Given the description of an element on the screen output the (x, y) to click on. 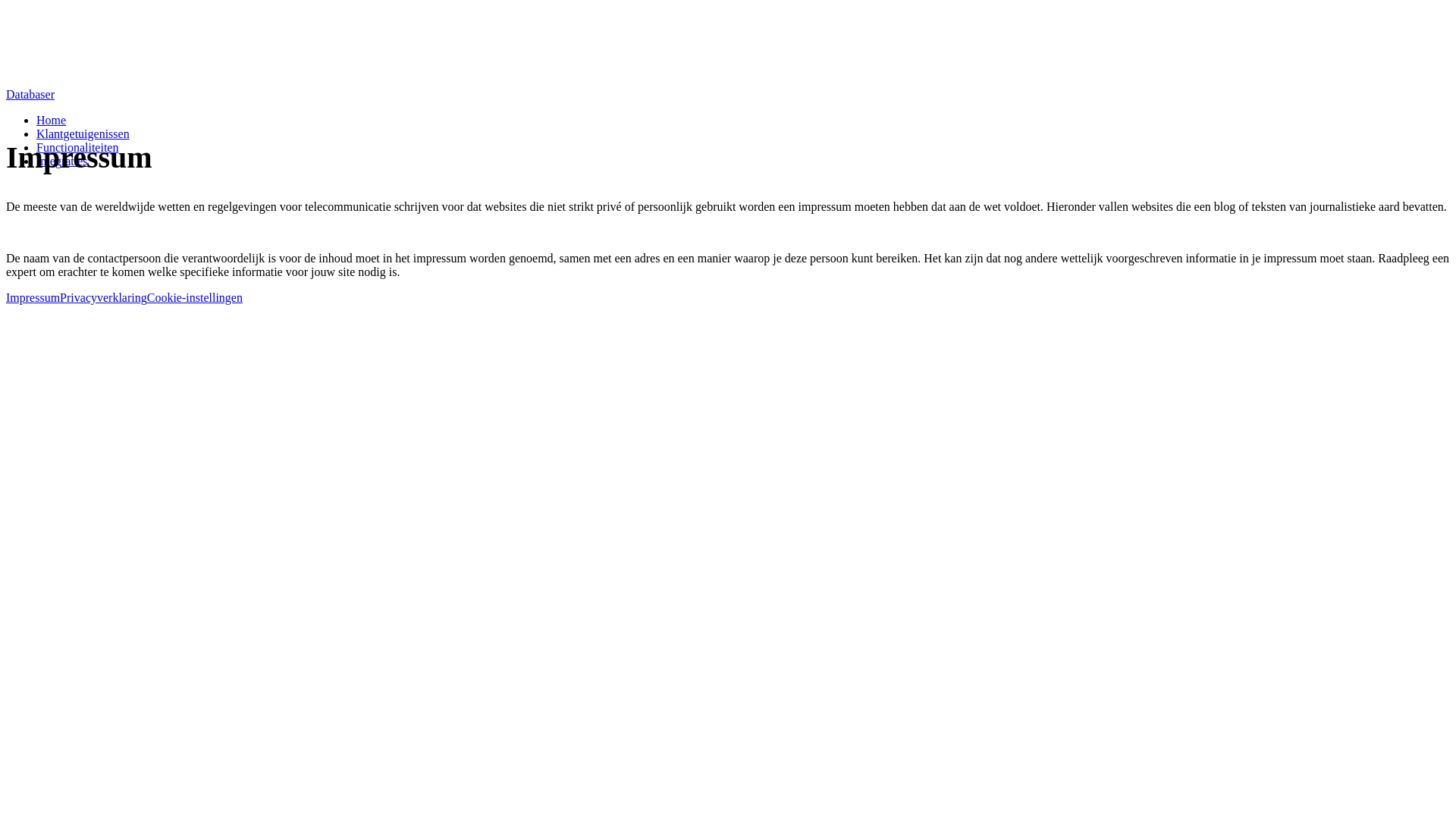
Databaser Element type: text (727, 94)
Cookie-instellingen Element type: text (194, 297)
Impressum Element type: text (32, 297)
Integraties Element type: text (61, 160)
Klantgetuigenissen Element type: text (82, 133)
Privacyverklaring Element type: text (103, 297)
Home Element type: text (50, 119)
Functionaliteiten Element type: text (77, 147)
